Given the description of an element on the screen output the (x, y) to click on. 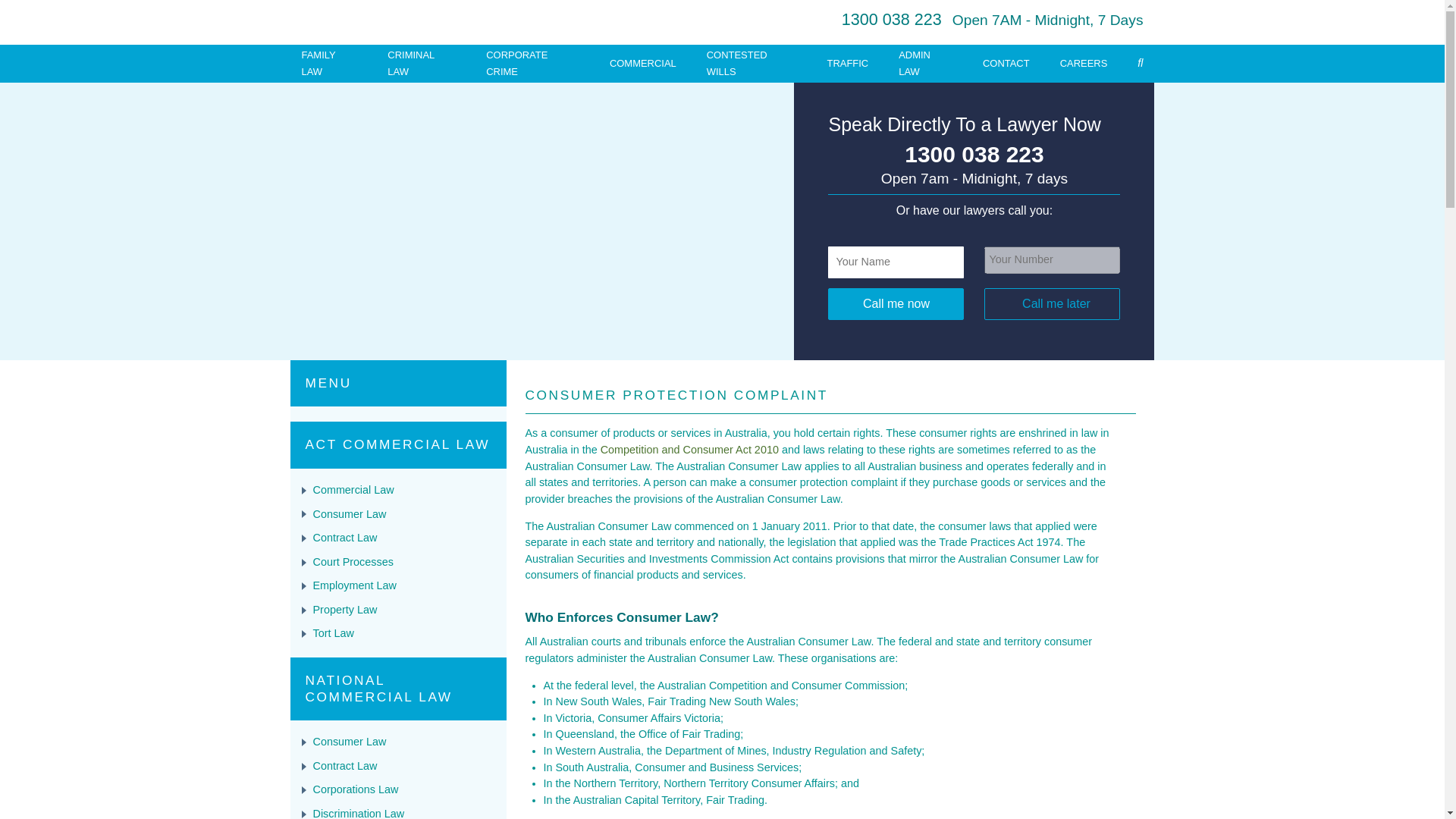
TRAFFIC (848, 62)
COMMERCIAL (643, 62)
CRIMINAL LAW (410, 62)
CAREERS (1083, 62)
Call me later (1051, 304)
Consumer Law (349, 513)
Contract Law (345, 537)
CORPORATE CRIME (516, 62)
Call me now (895, 304)
1300 038 223 (973, 154)
